Given the description of an element on the screen output the (x, y) to click on. 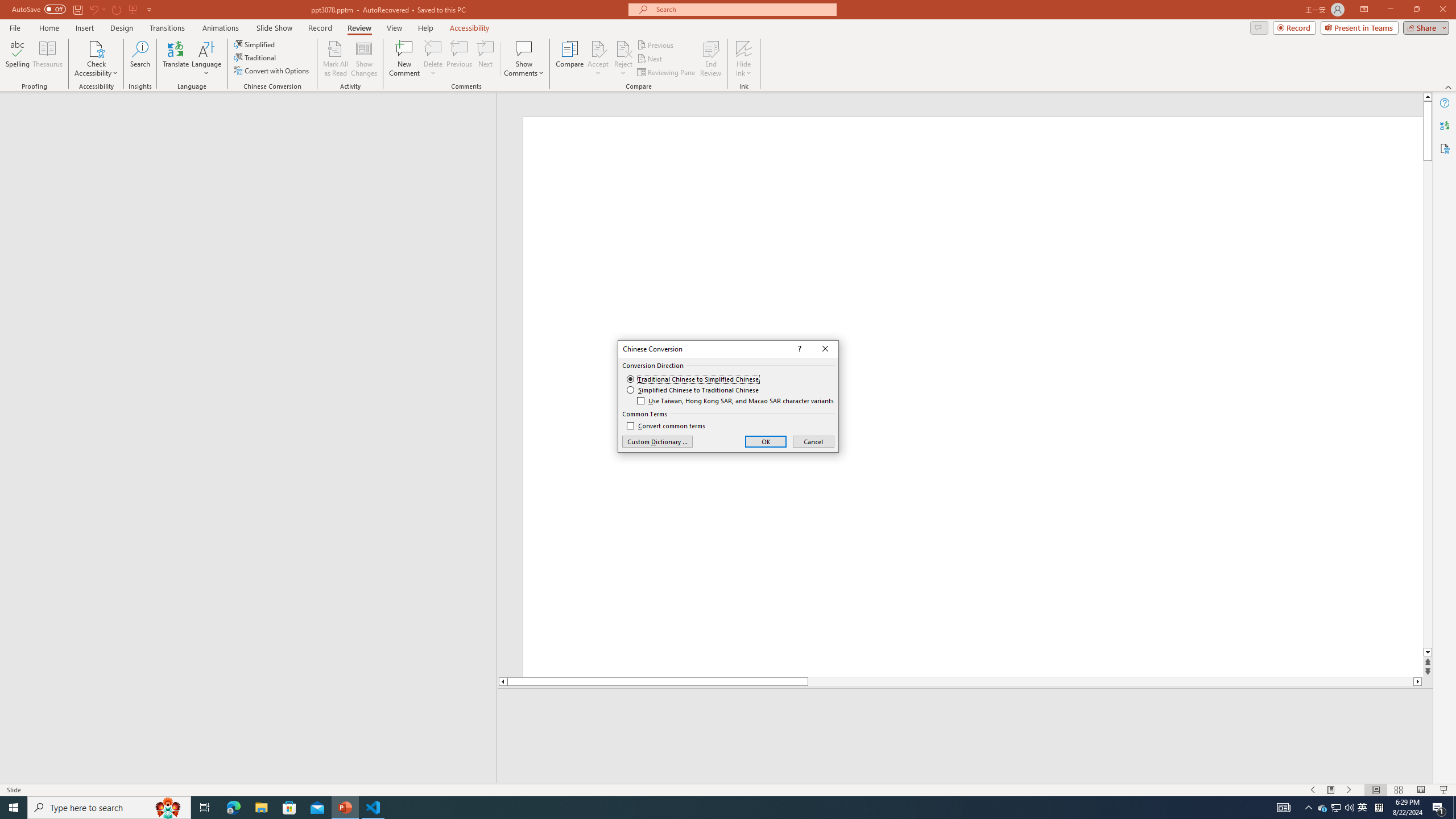
Thesaurus... (47, 58)
Reject Change (622, 48)
Slide Show Previous On (1313, 790)
New Comment (403, 58)
End Review (710, 58)
